Given the description of an element on the screen output the (x, y) to click on. 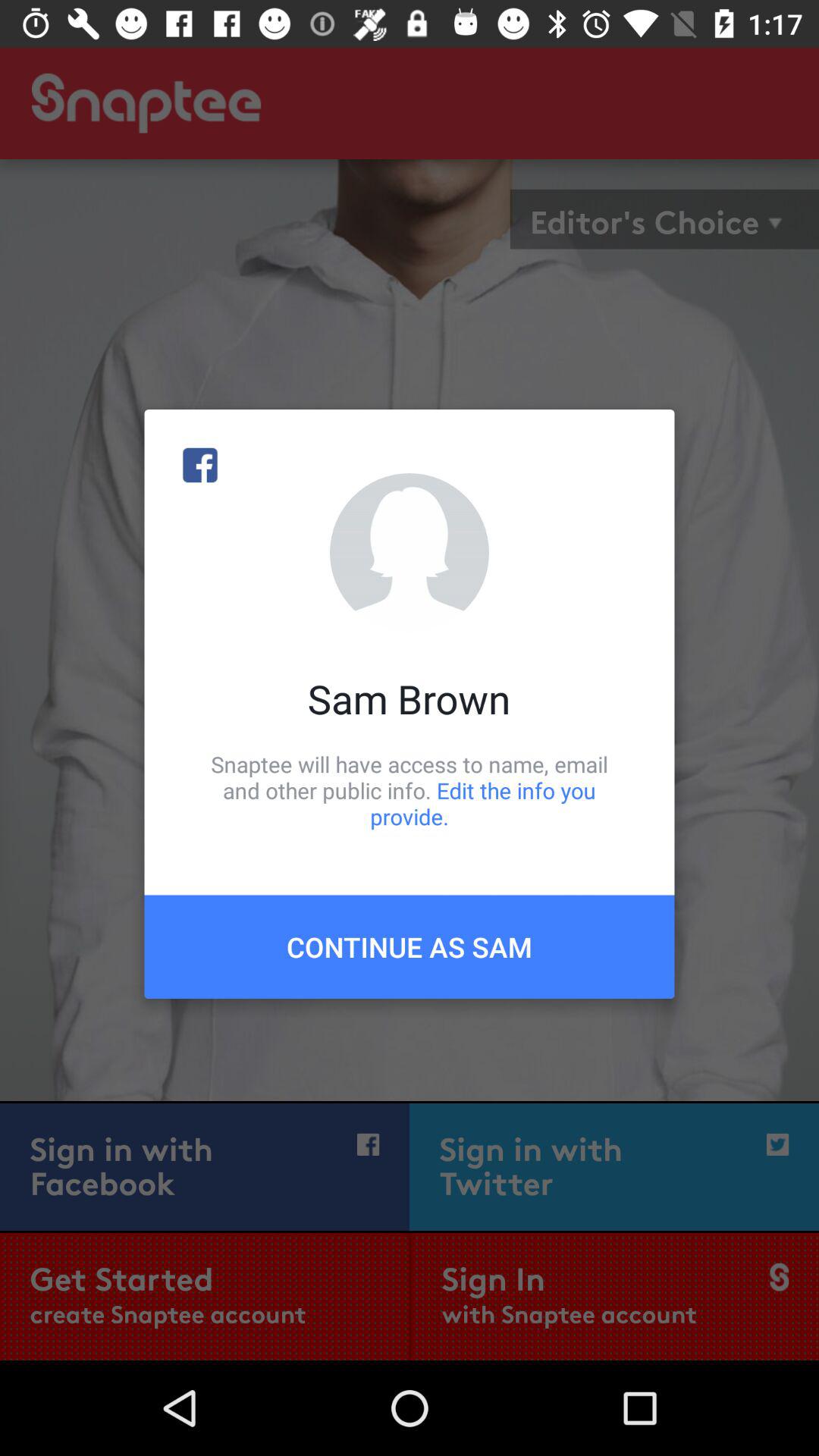
scroll until the continue as sam icon (409, 946)
